Given the description of an element on the screen output the (x, y) to click on. 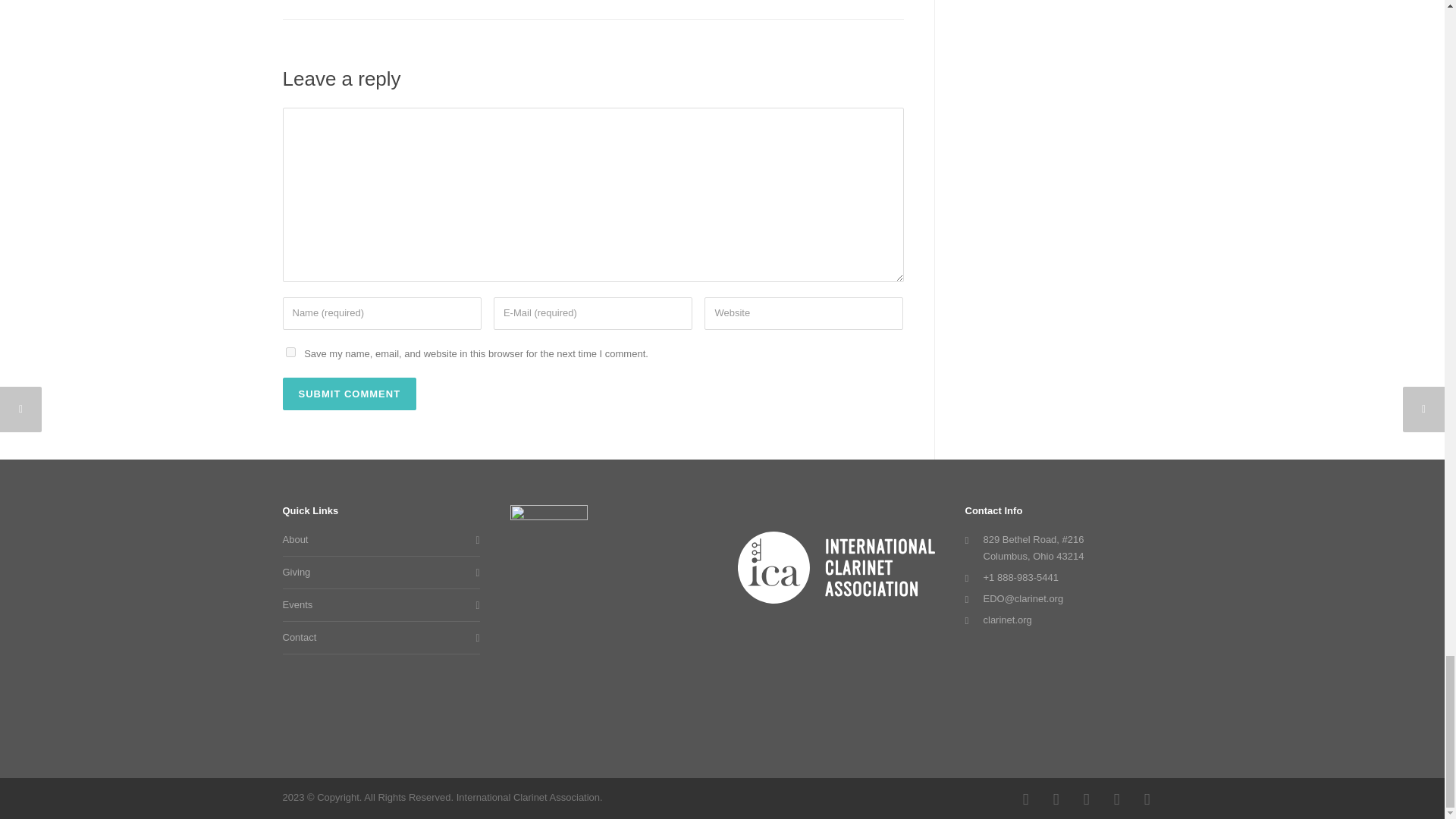
Instagram (1055, 798)
User Login (1146, 798)
Threads (1115, 798)
Facebook (1025, 798)
yes (290, 352)
YouTube (1085, 798)
Website (803, 313)
Submit Comment (349, 393)
